Given the description of an element on the screen output the (x, y) to click on. 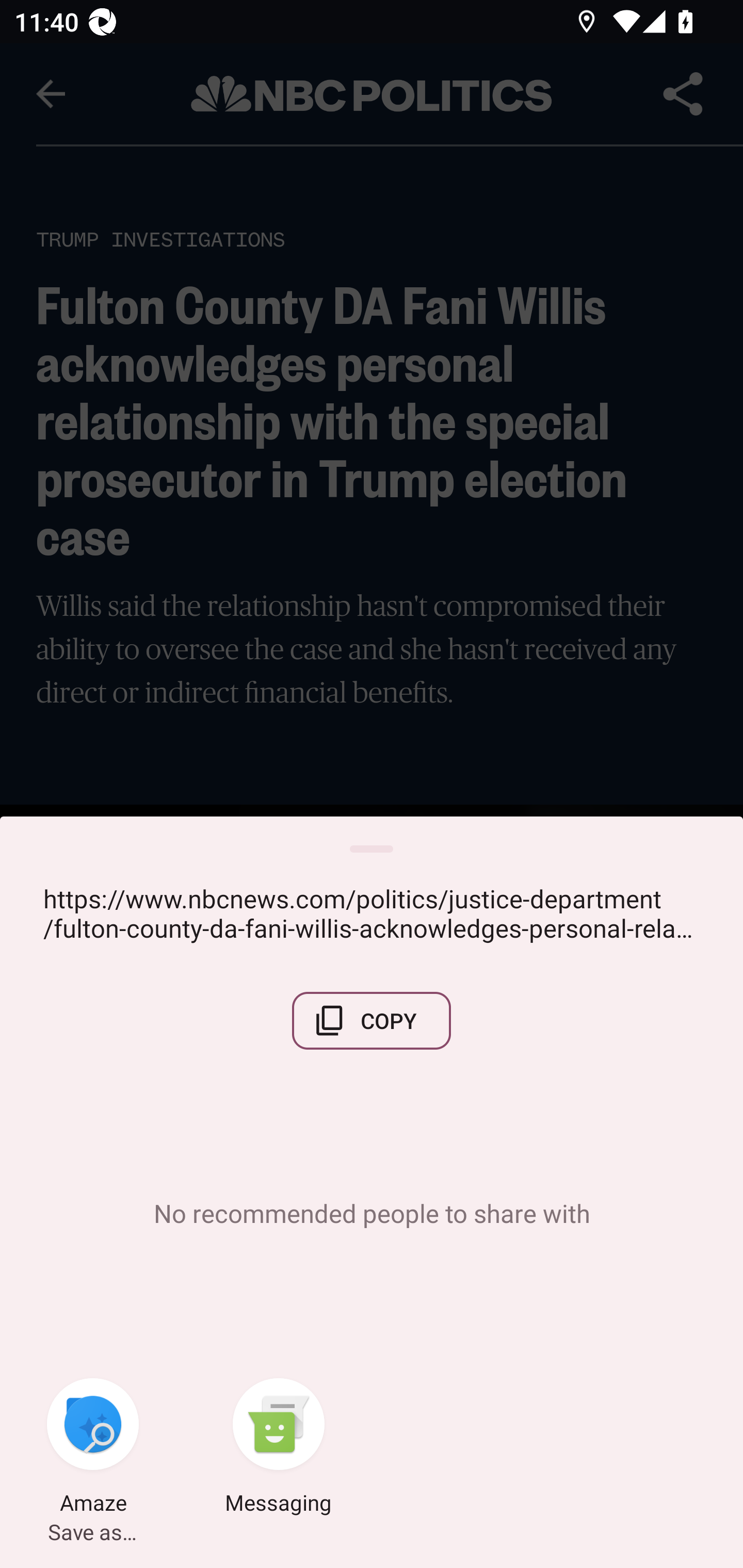
COPY (371, 1020)
Amaze Save as… (92, 1448)
Messaging (278, 1448)
